Given the description of an element on the screen output the (x, y) to click on. 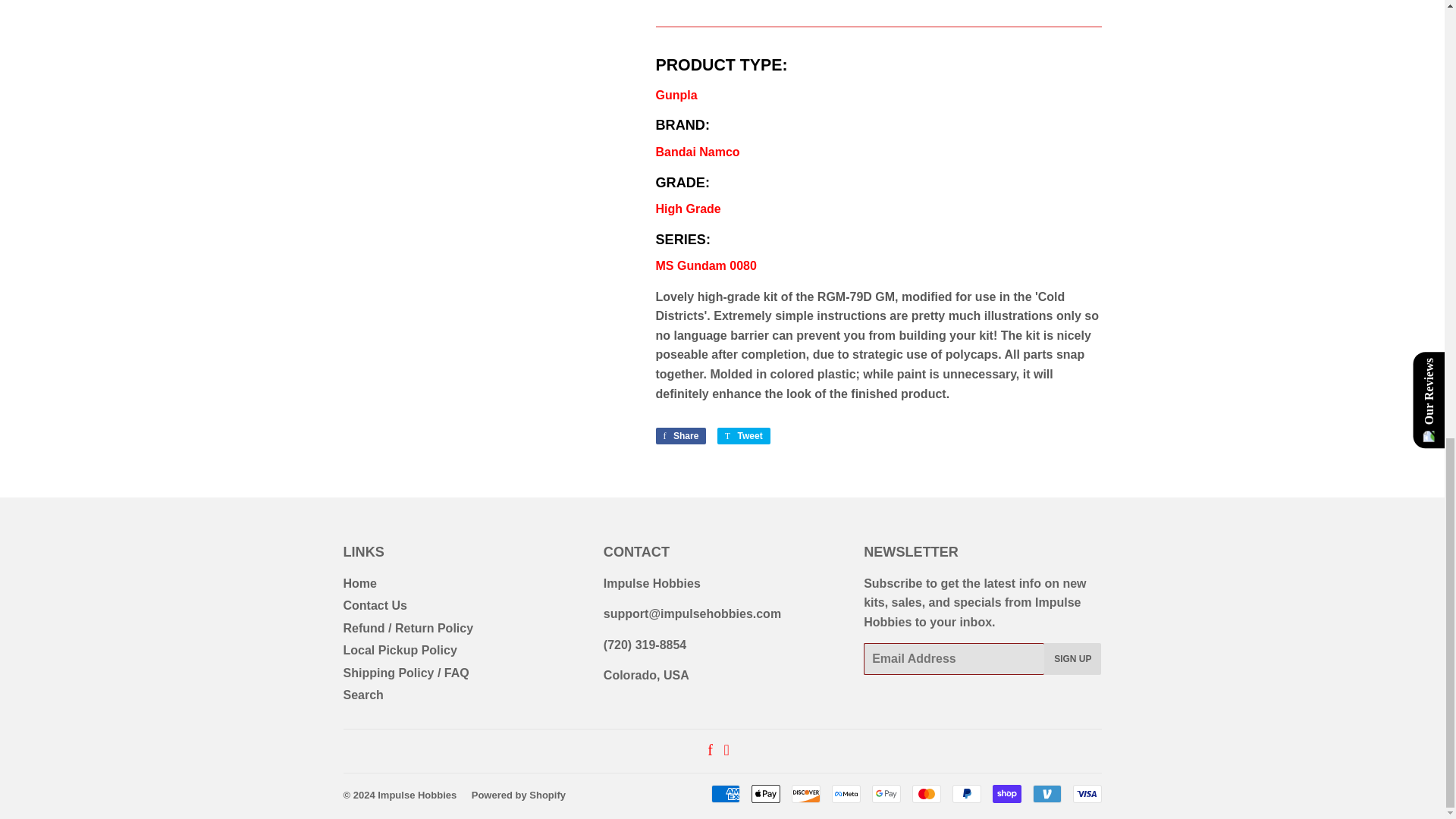
Share on Facebook (680, 435)
High Grade Kits (687, 208)
Shop Pay (1005, 793)
Visa (1085, 793)
Meta Pay (845, 793)
UC Kits (705, 265)
PayPal (966, 793)
Gunpla Kits (676, 94)
Apple Pay (764, 793)
Discover (806, 793)
Mastercard (925, 793)
Venmo (1046, 793)
Tweet on Twitter (743, 435)
American Express (725, 793)
Bandai Namco Kits (697, 151)
